Given the description of an element on the screen output the (x, y) to click on. 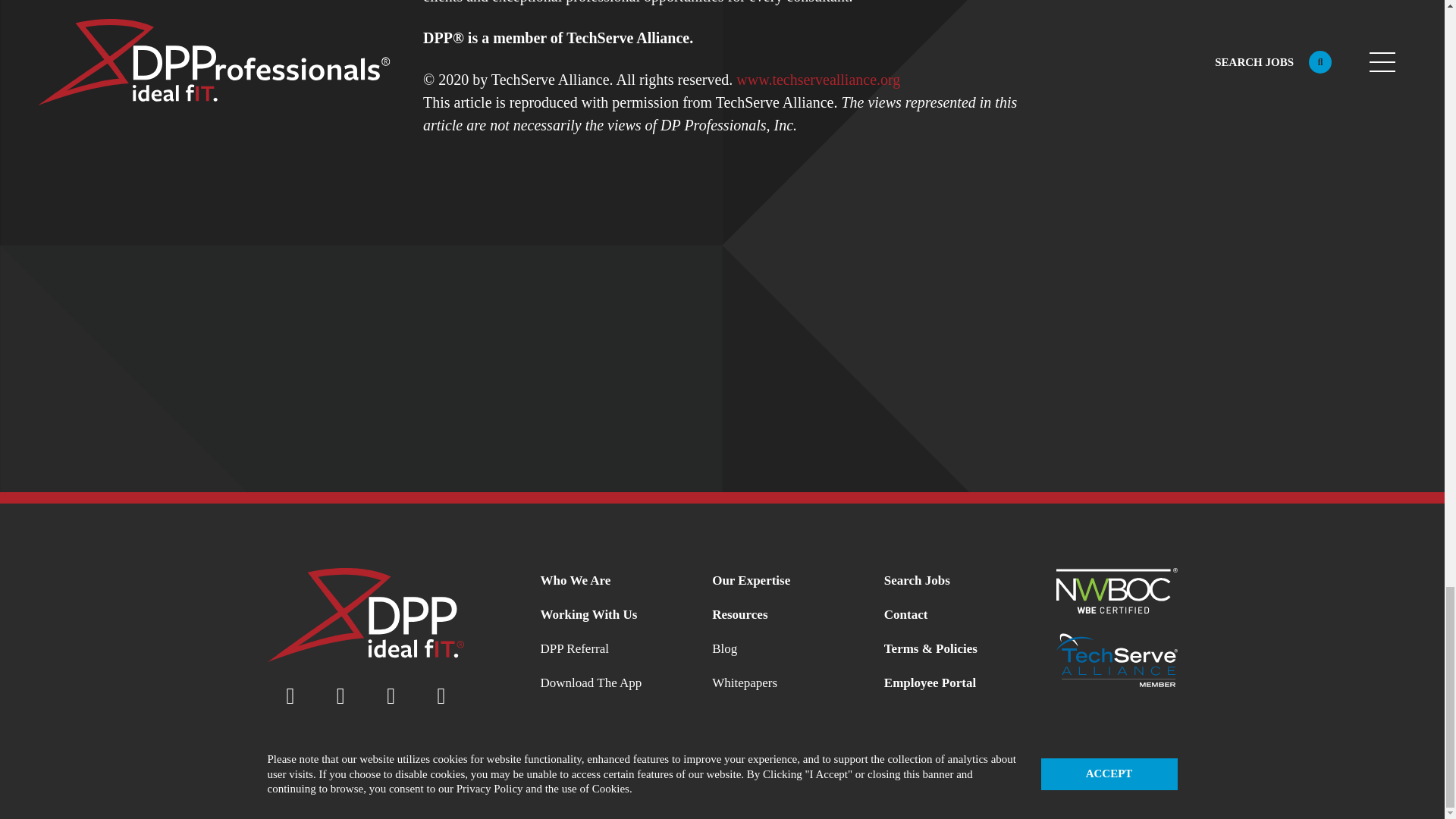
www.techservealliance.org (817, 78)
